Given the description of an element on the screen output the (x, y) to click on. 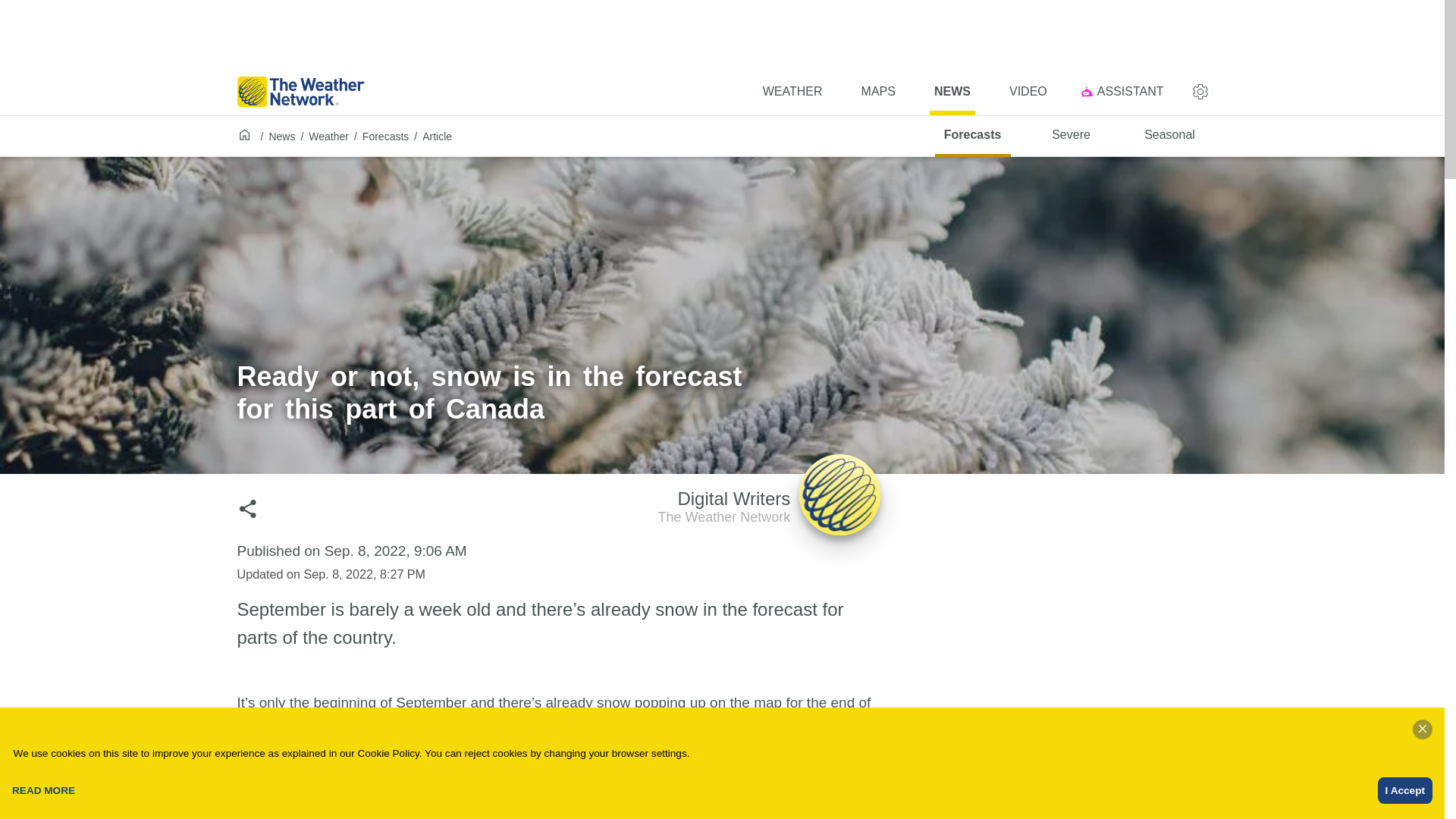
Severe (1071, 136)
Snap back into a fall routine with these sleep easy tips (502, 811)
Weather (328, 136)
3rd party ad content (1090, 580)
ASSISTANT (1125, 91)
Seasonal (769, 509)
NEWS (1169, 136)
WEATHER (952, 91)
3rd party ad content (792, 91)
Forecasts (721, 33)
VIDEO (972, 136)
News (1027, 91)
MAPS (281, 136)
Forecasts (878, 91)
